Given the description of an element on the screen output the (x, y) to click on. 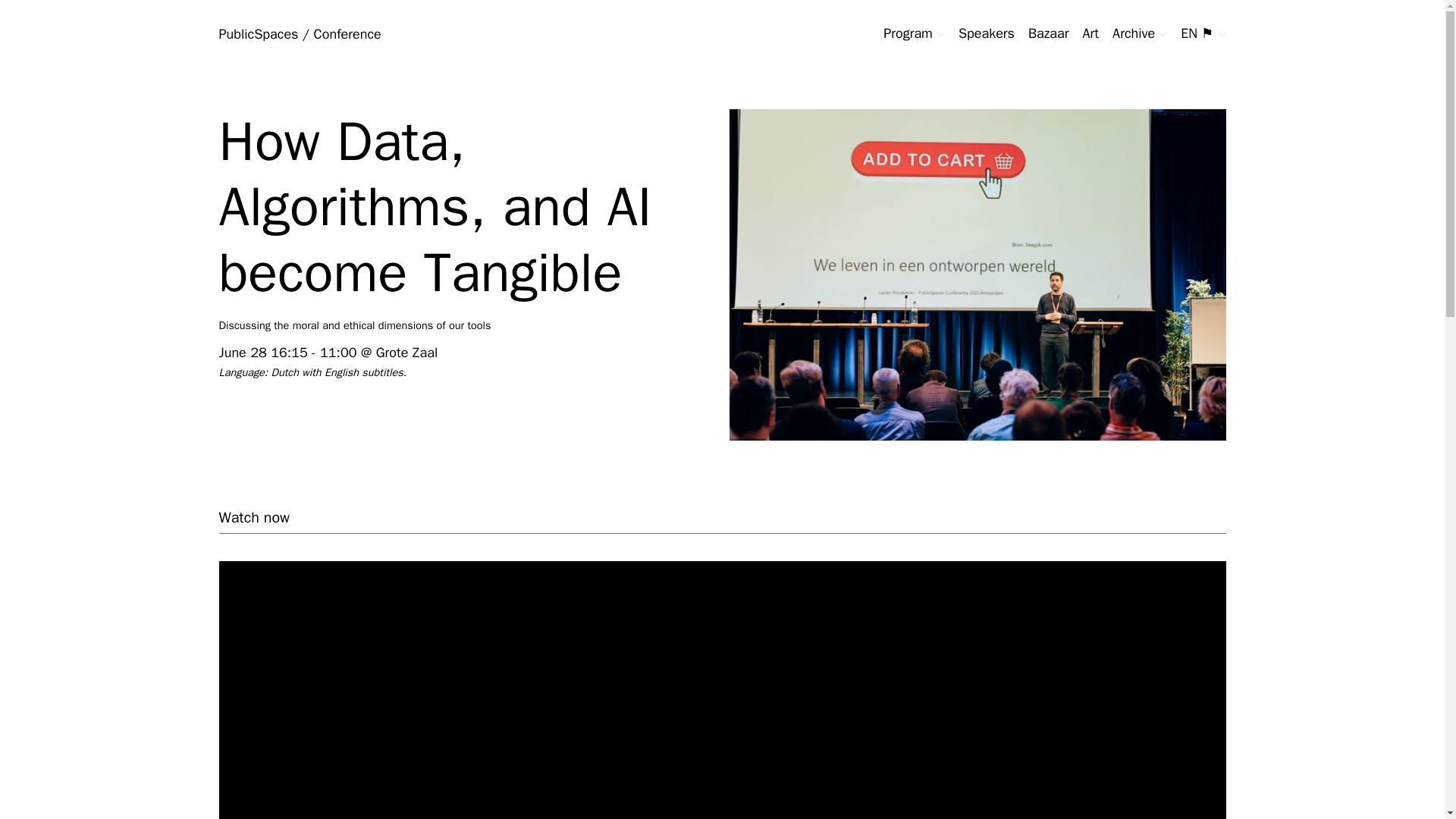
Speakers (986, 33)
